Given the description of an element on the screen output the (x, y) to click on. 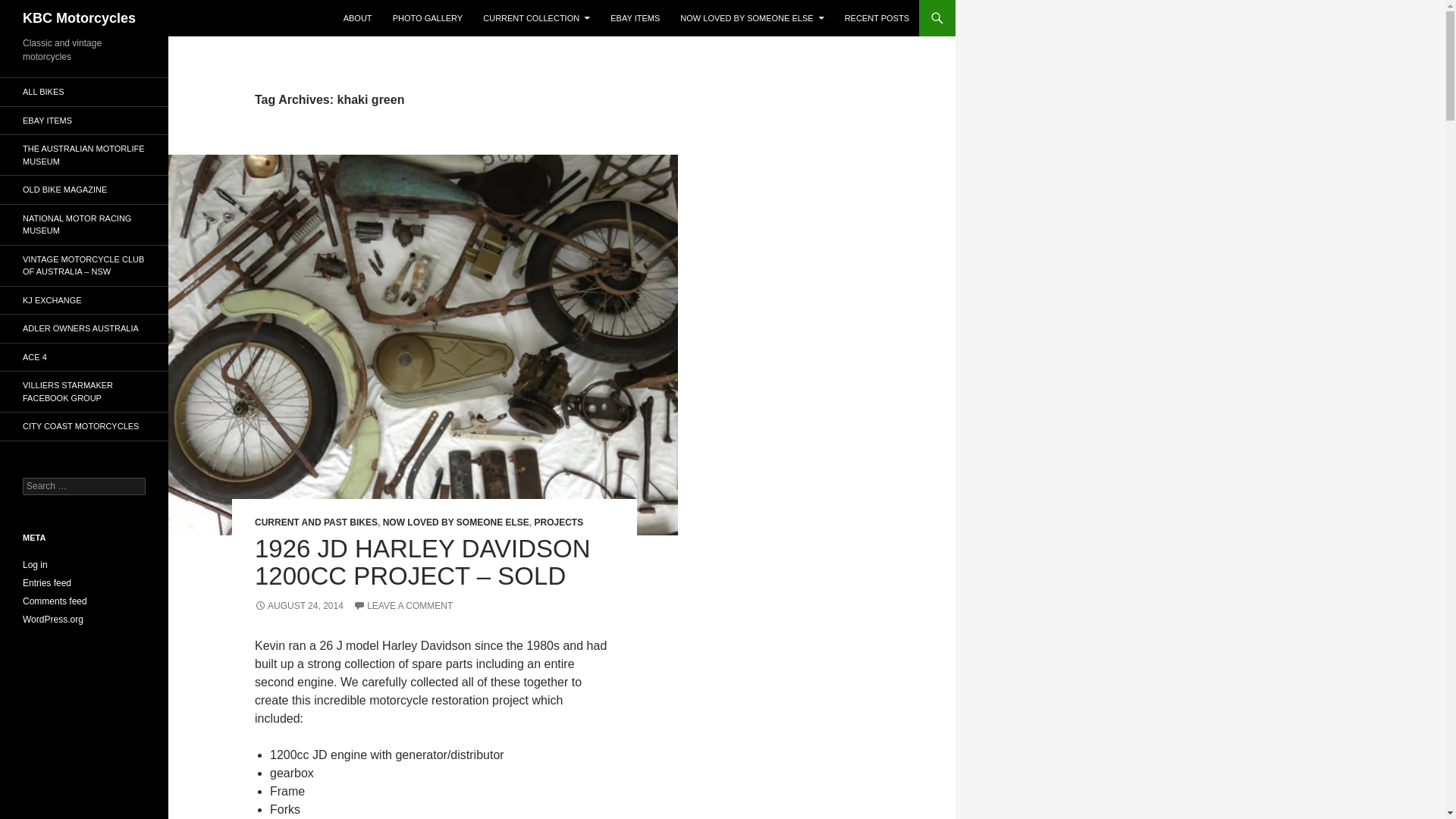
LEAVE A COMMENT (402, 605)
PHOTO GALLERY (427, 18)
RECENT POSTS (876, 18)
AUGUST 24, 2014 (298, 605)
NOW LOVED BY SOMEONE ELSE (751, 18)
ABOUT (357, 18)
PROJECTS (558, 521)
KBC Motorcycles (79, 18)
EBAY ITEMS (634, 18)
CURRENT AND PAST BIKES (315, 521)
